Given the description of an element on the screen output the (x, y) to click on. 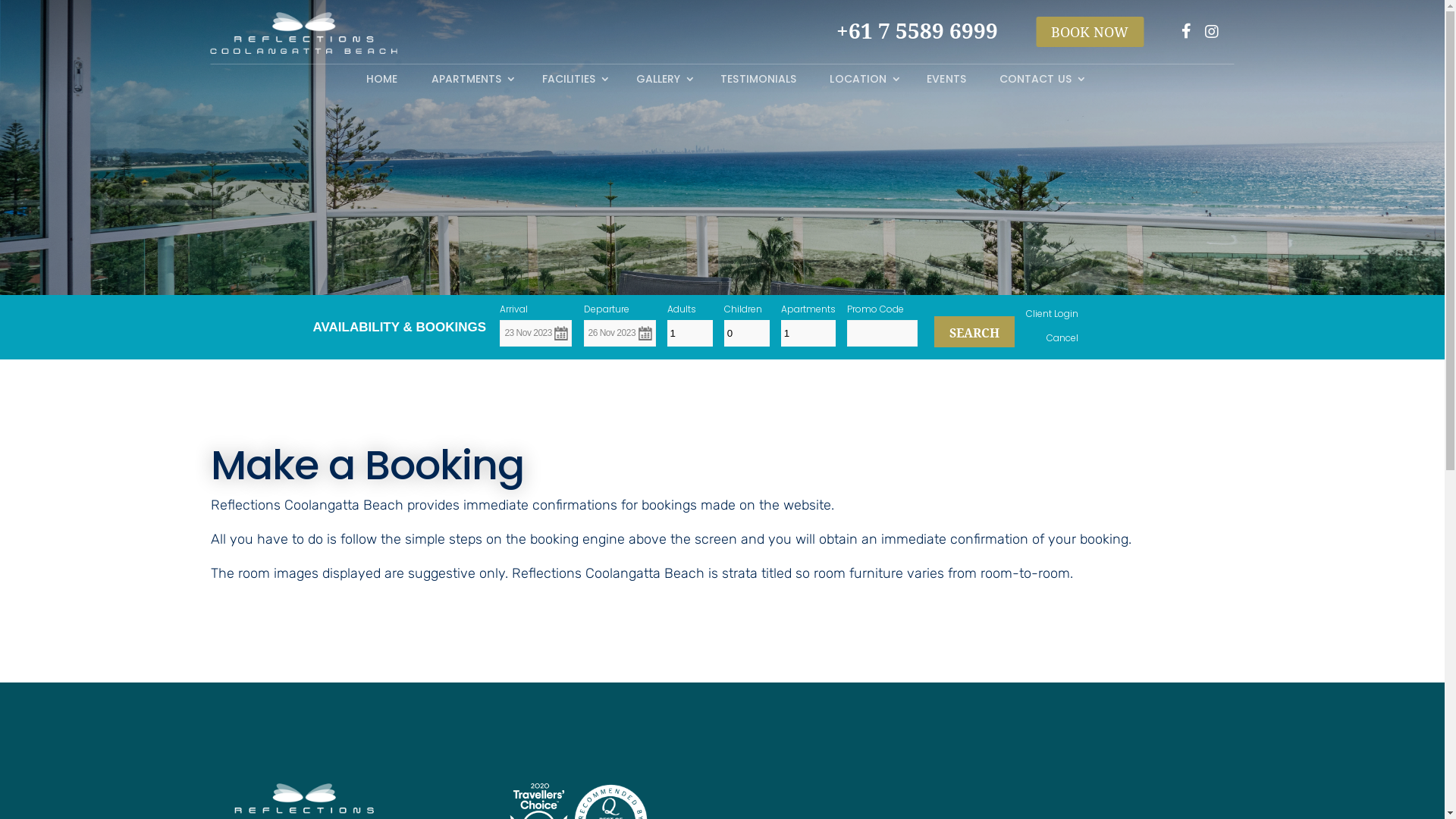
Client Login Element type: text (1052, 313)
FACILITIES Element type: text (572, 81)
CONTACT US Element type: text (1038, 81)
HOME Element type: text (381, 81)
+61 7 5589 6999 Element type: text (1101, 30)
APARTMENTS Element type: text (470, 81)
BOOK NOW Element type: text (1089, 31)
GALLERY Element type: text (661, 81)
LOGO-Wh-500w Element type: hover (303, 32)
TESTIMONIALS Element type: text (758, 81)
SEARCH Element type: text (974, 331)
Cancel Element type: text (1062, 337)
EVENTS Element type: text (946, 81)
LOCATION Element type: text (861, 81)
